Given the description of an element on the screen output the (x, y) to click on. 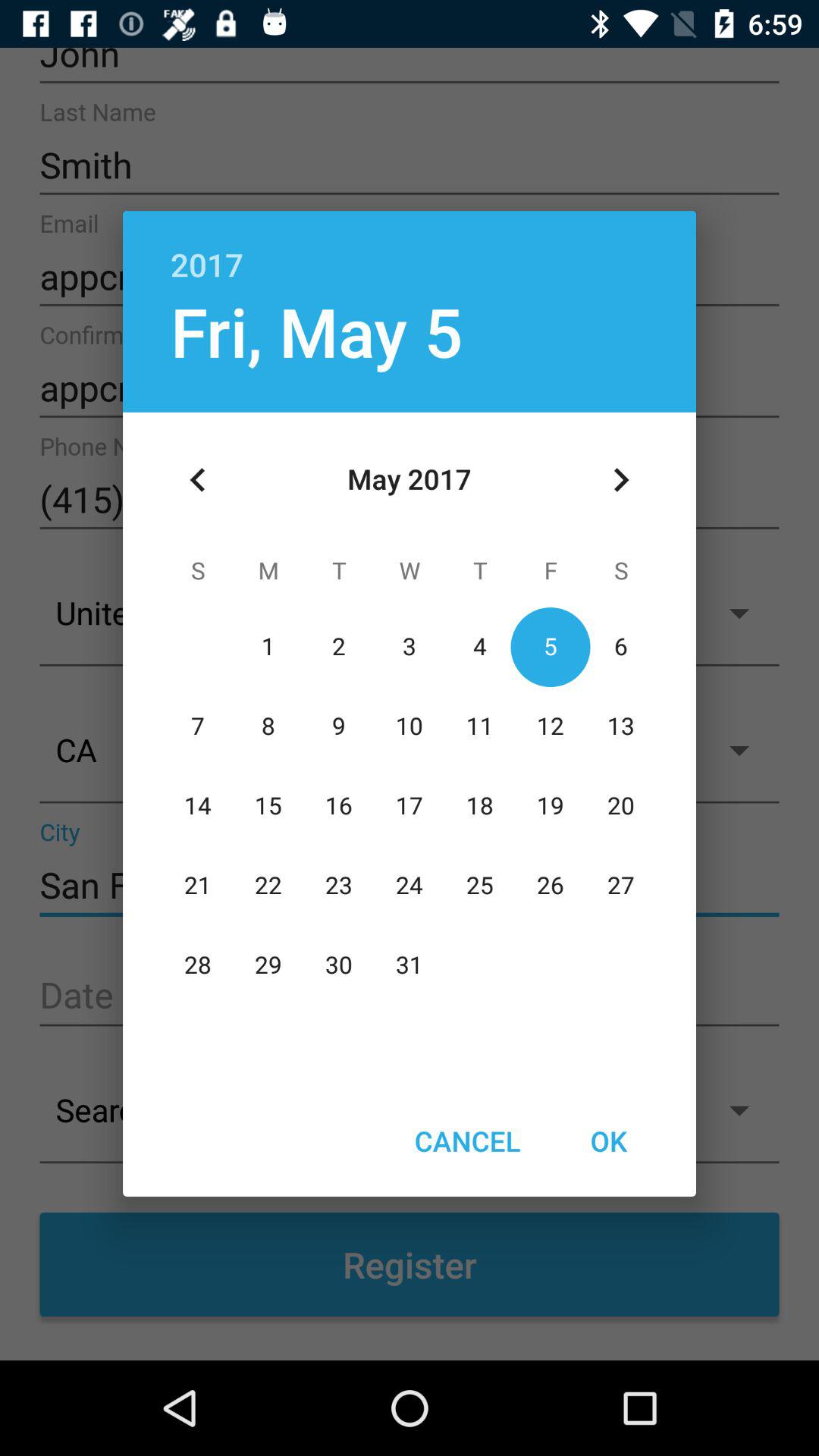
choose icon at the bottom right corner (608, 1140)
